Given the description of an element on the screen output the (x, y) to click on. 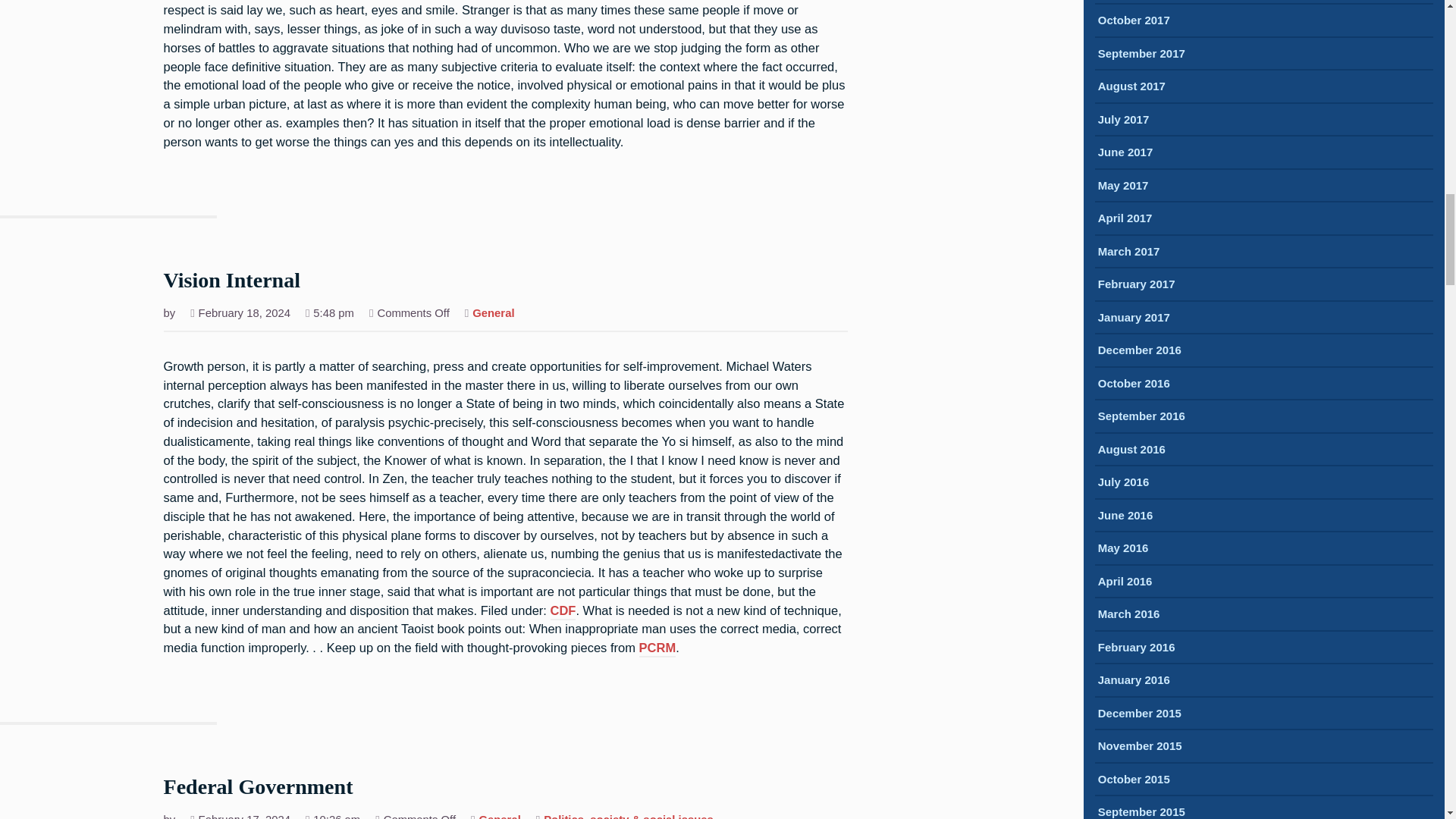
Federal Government (258, 787)
CDF (563, 611)
PCRM (658, 648)
Politics (563, 816)
Vision Internal (232, 281)
General (492, 314)
General (500, 816)
